Given the description of an element on the screen output the (x, y) to click on. 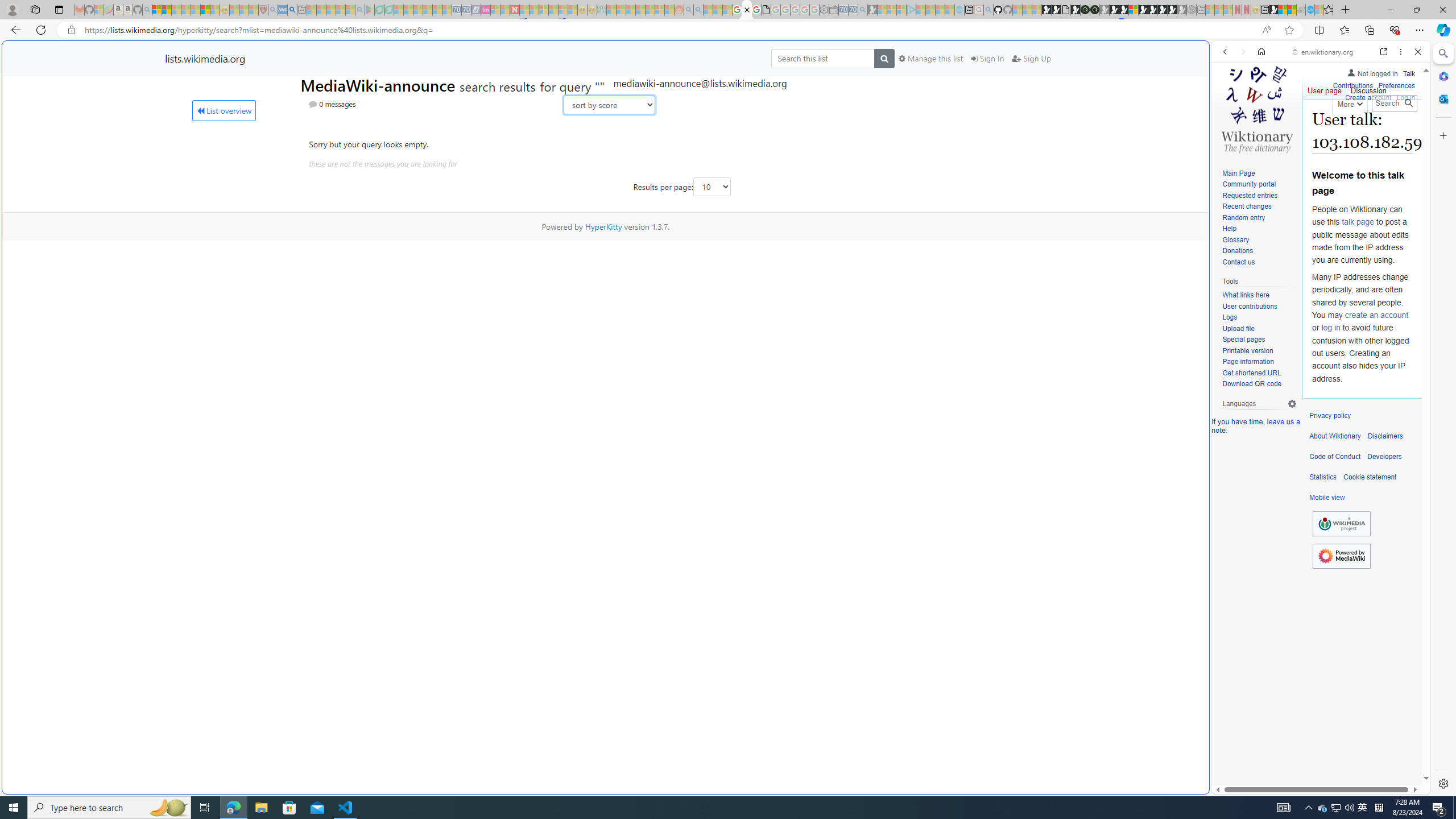
Page information (1247, 361)
Random entry (1243, 216)
Mobile view (1326, 497)
talk page (1357, 221)
Download QR code (1259, 383)
Discussion (1367, 87)
